Given the description of an element on the screen output the (x, y) to click on. 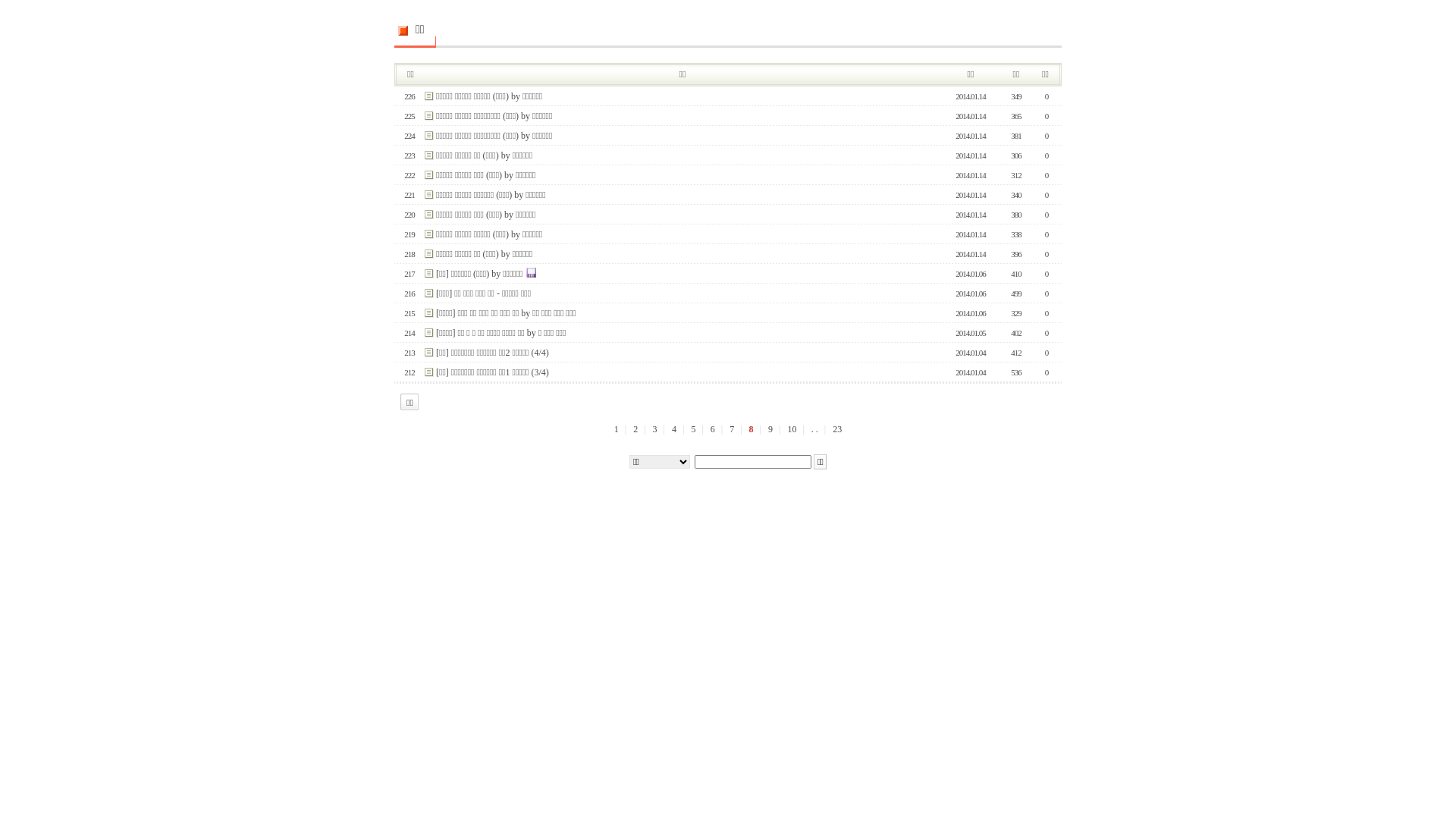
3 Element type: text (655, 429)
4 Element type: text (673, 429)
. . Element type: text (814, 429)
6 Element type: text (712, 429)
8 Element type: text (751, 429)
1 Element type: text (616, 429)
2 Element type: text (635, 429)
5 Element type: text (692, 429)
7 Element type: text (731, 429)
9 Element type: text (770, 429)
23 Element type: text (837, 429)
10 Element type: text (791, 429)
